Given the description of an element on the screen output the (x, y) to click on. 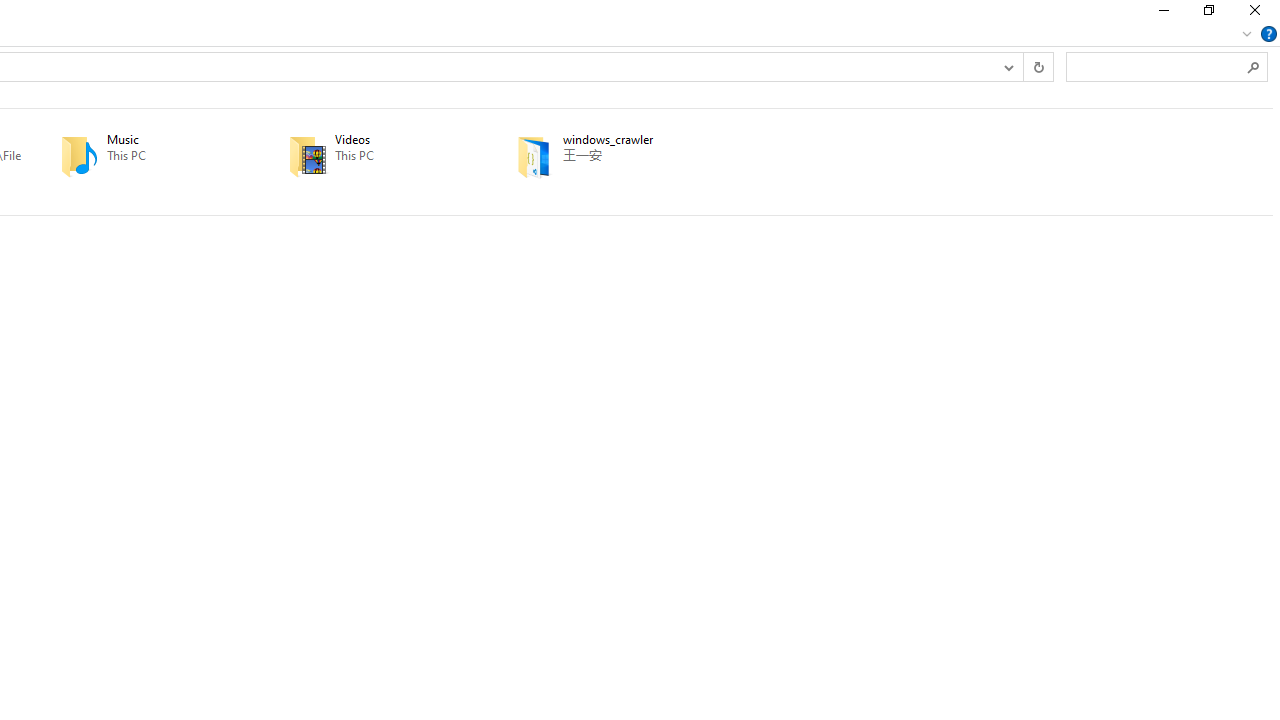
Help (1269, 33)
